Given the description of an element on the screen output the (x, y) to click on. 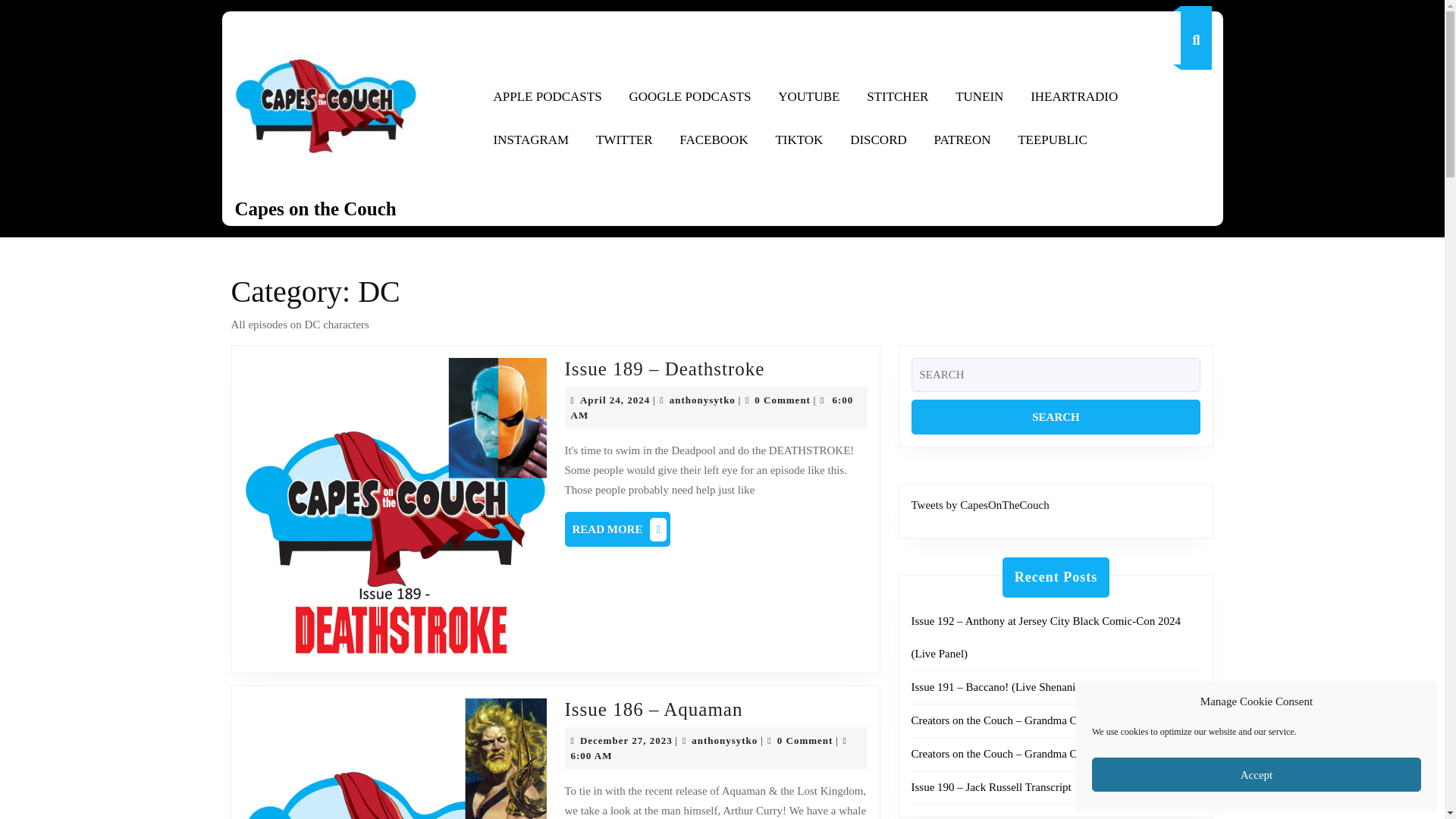
PATREON (625, 741)
TEEPUBLIC (962, 139)
YOUTUBE (723, 740)
TIKTOK (1052, 139)
SEARCH (808, 96)
APPLE PODCASTS (798, 139)
INSTAGRAM (1056, 416)
DISCORD (546, 96)
IHEARTRADIO (530, 139)
Accept (614, 402)
STITCHER (878, 139)
